Given the description of an element on the screen output the (x, y) to click on. 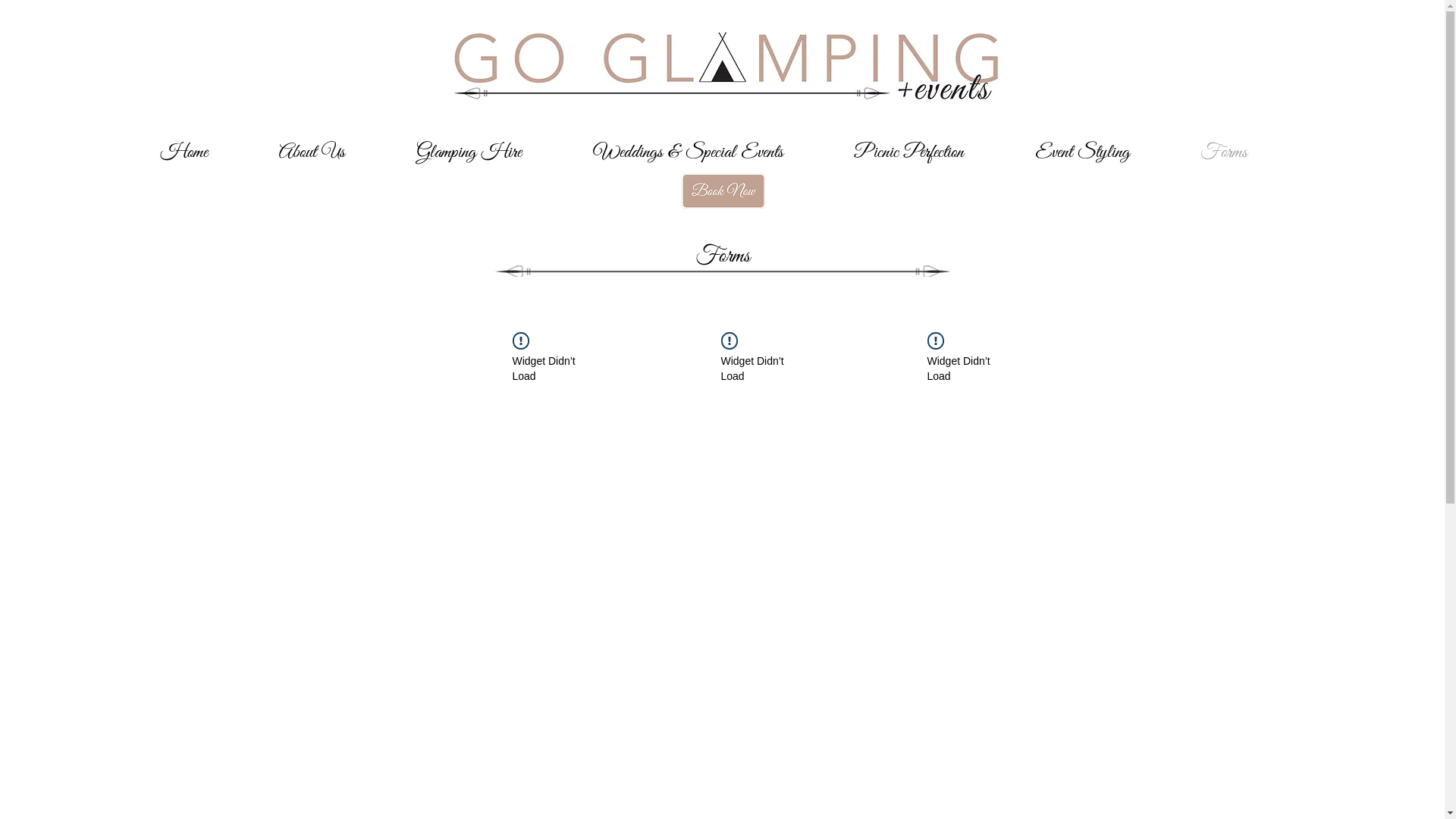
About Us Element type: text (330, 152)
Picnic Perfection Element type: text (927, 152)
Glamping Hire Element type: text (487, 152)
Forms Element type: text (1241, 152)
Weddings & Special Events Element type: text (706, 152)
Home Element type: text (202, 152)
